Given the description of an element on the screen output the (x, y) to click on. 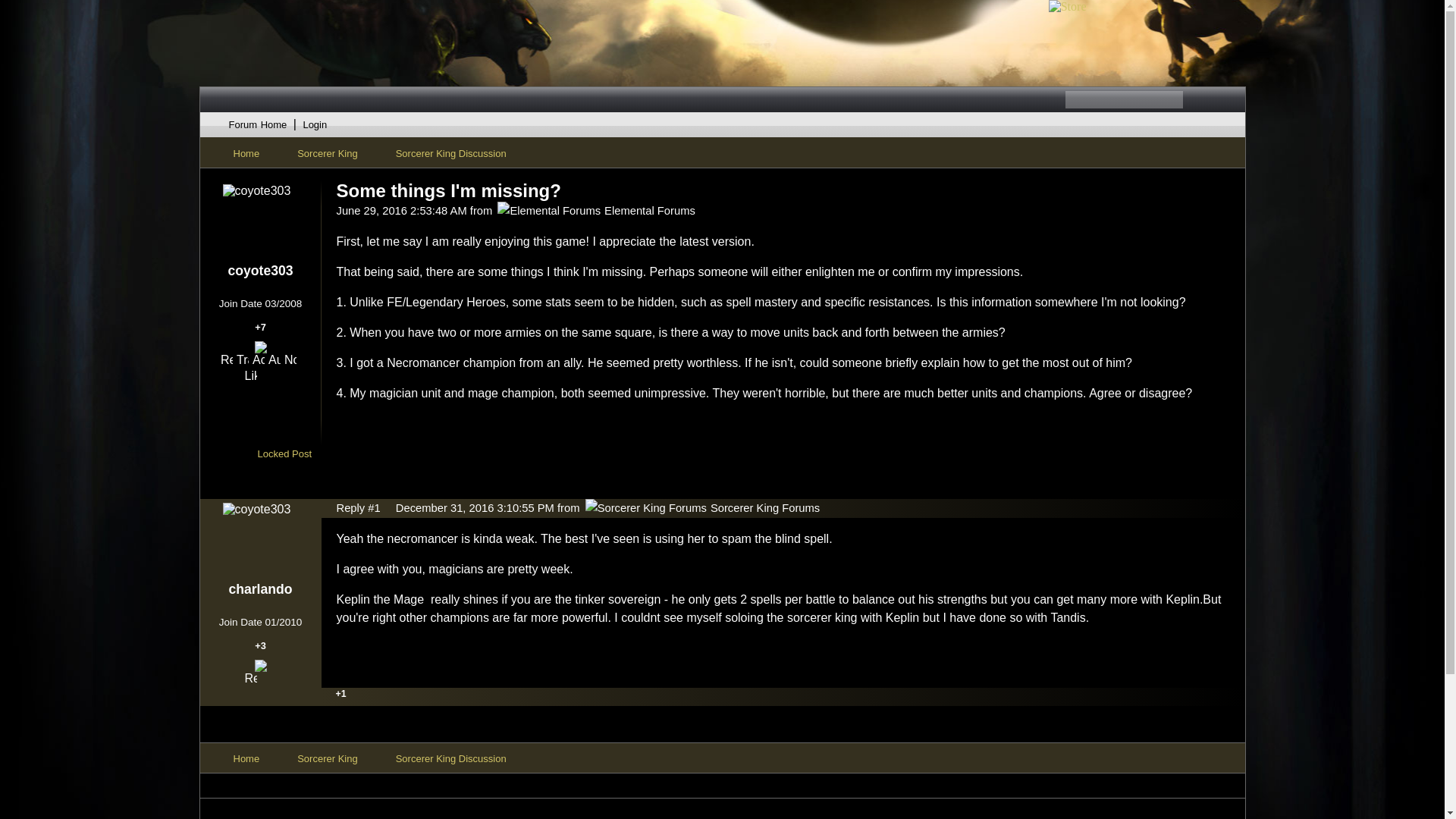
View all awards (266, 374)
Active Commenter - Replied over 100 times (257, 358)
Click user name to view more options. (259, 270)
Rank: 1 (260, 288)
Sorcerer King (326, 152)
Some things I'm missing? (448, 190)
Aura - Gave 5 Karma (274, 358)
Click user name to view more options. (260, 589)
Liked - Received 5 Total Karma (250, 375)
